Given the description of an element on the screen output the (x, y) to click on. 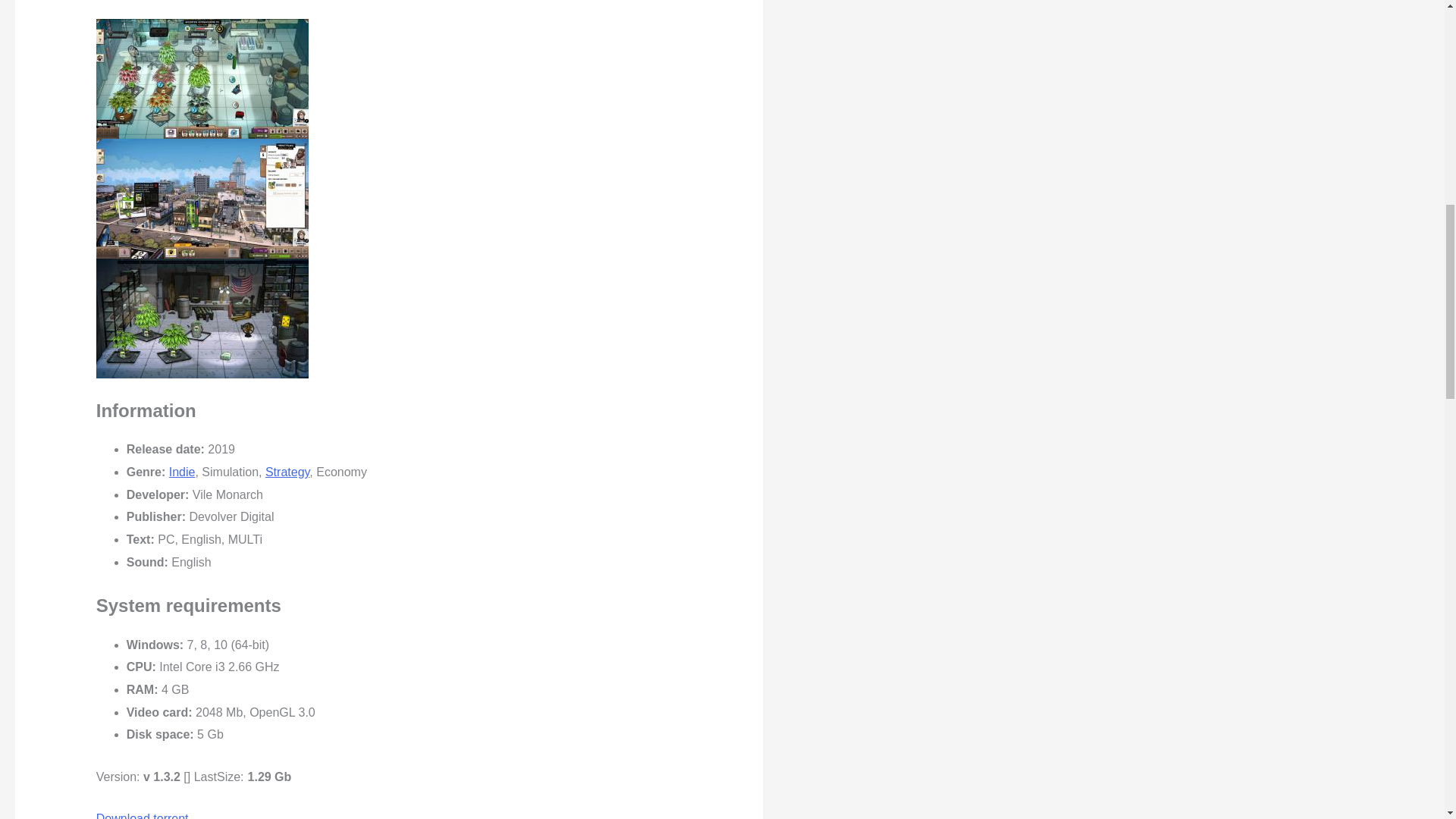
Strategy (286, 472)
Indie (181, 472)
Download torrent (142, 815)
